Given the description of an element on the screen output the (x, y) to click on. 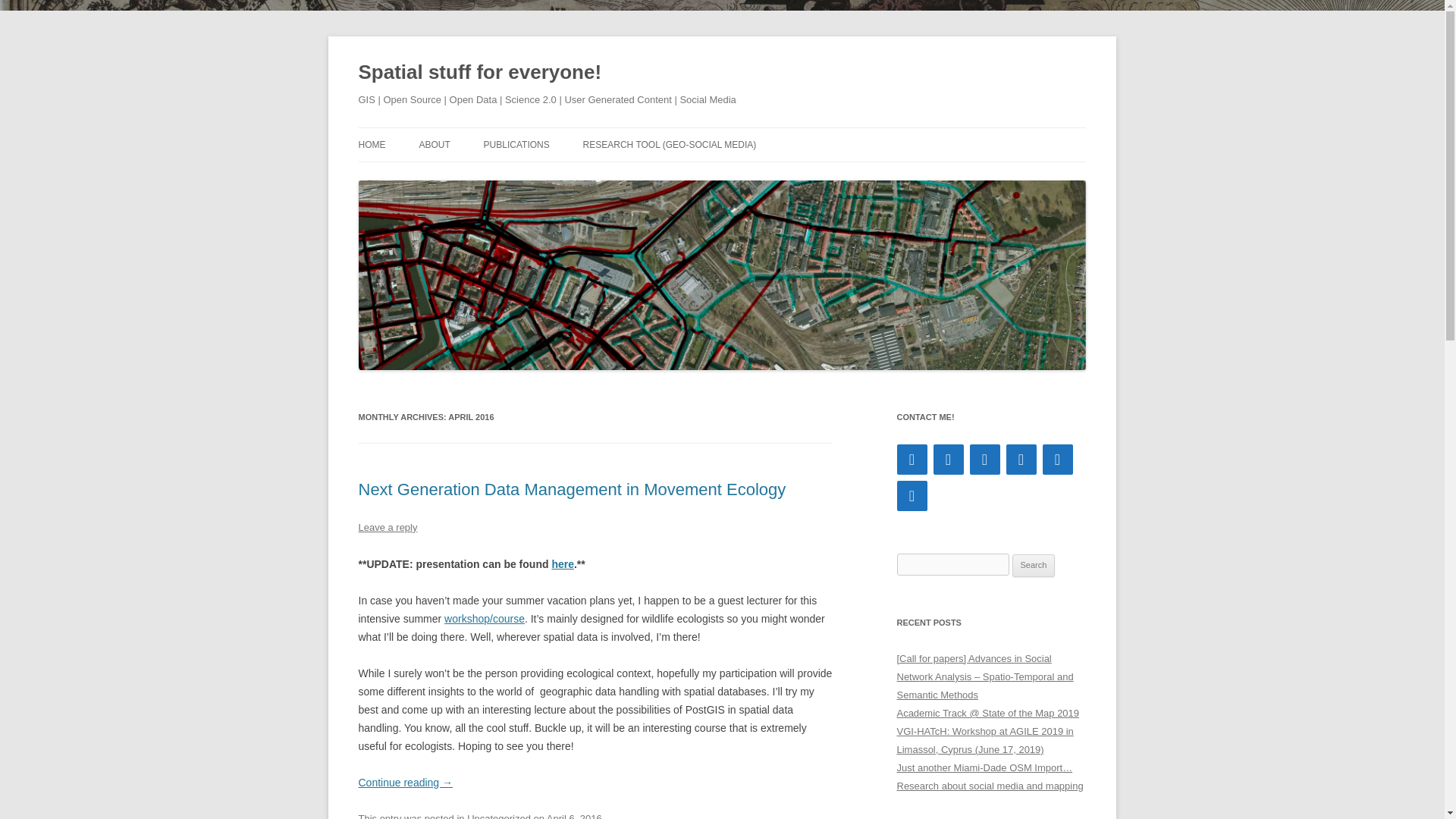
Contact (911, 459)
10:08 pm (574, 816)
Spatial stuff for everyone! (479, 72)
Skip to content (757, 132)
PUBLICATIONS (516, 144)
here (562, 563)
Leave a reply (387, 527)
Spatial stuff for everyone! (479, 72)
Skip to content (757, 132)
April 6, 2016 (574, 816)
